Given the description of an element on the screen output the (x, y) to click on. 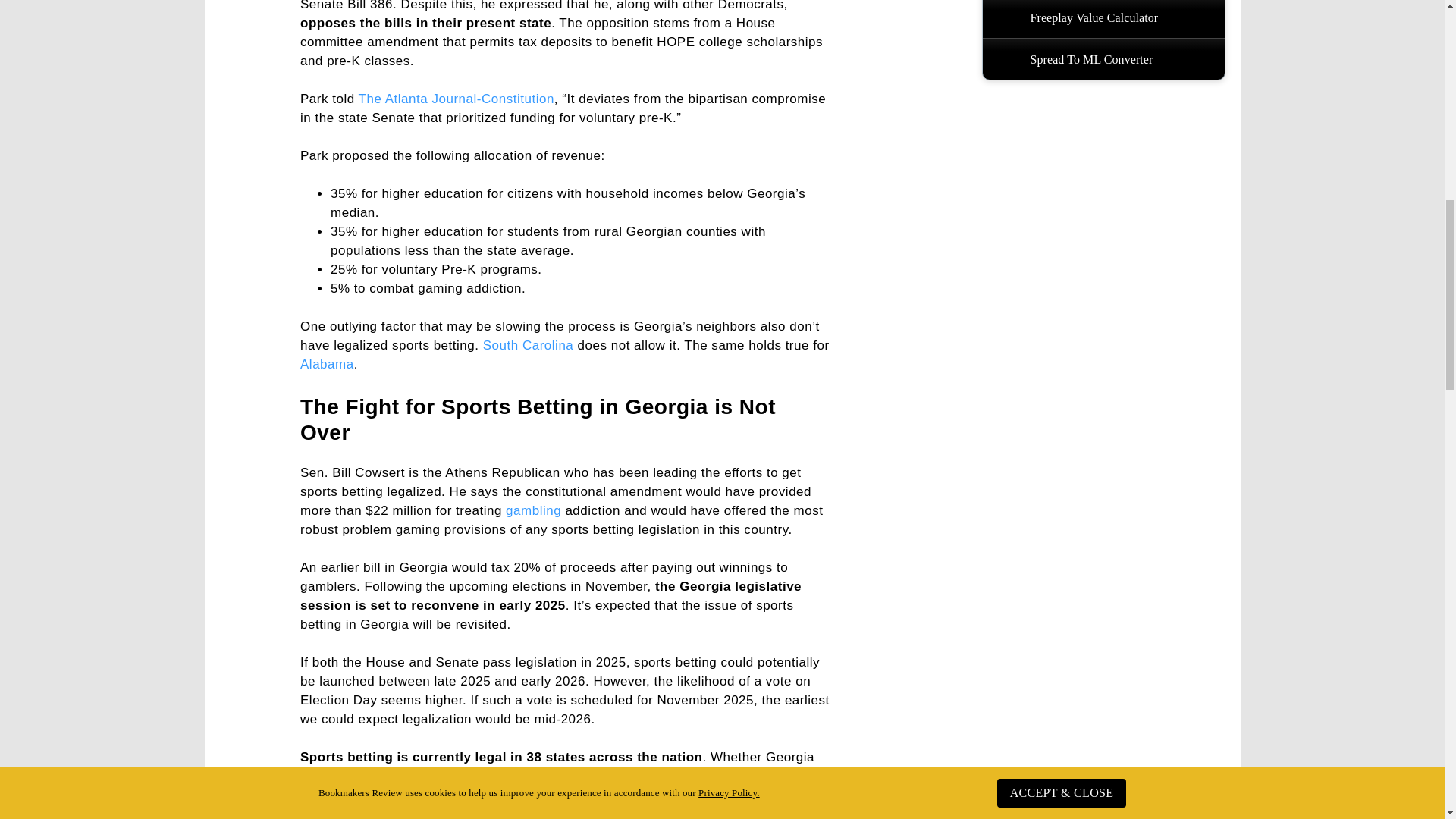
Alabama (326, 364)
The Atlanta Journal-Constitution (456, 98)
gambling (532, 510)
South Carolina (528, 345)
